Given the description of an element on the screen output the (x, y) to click on. 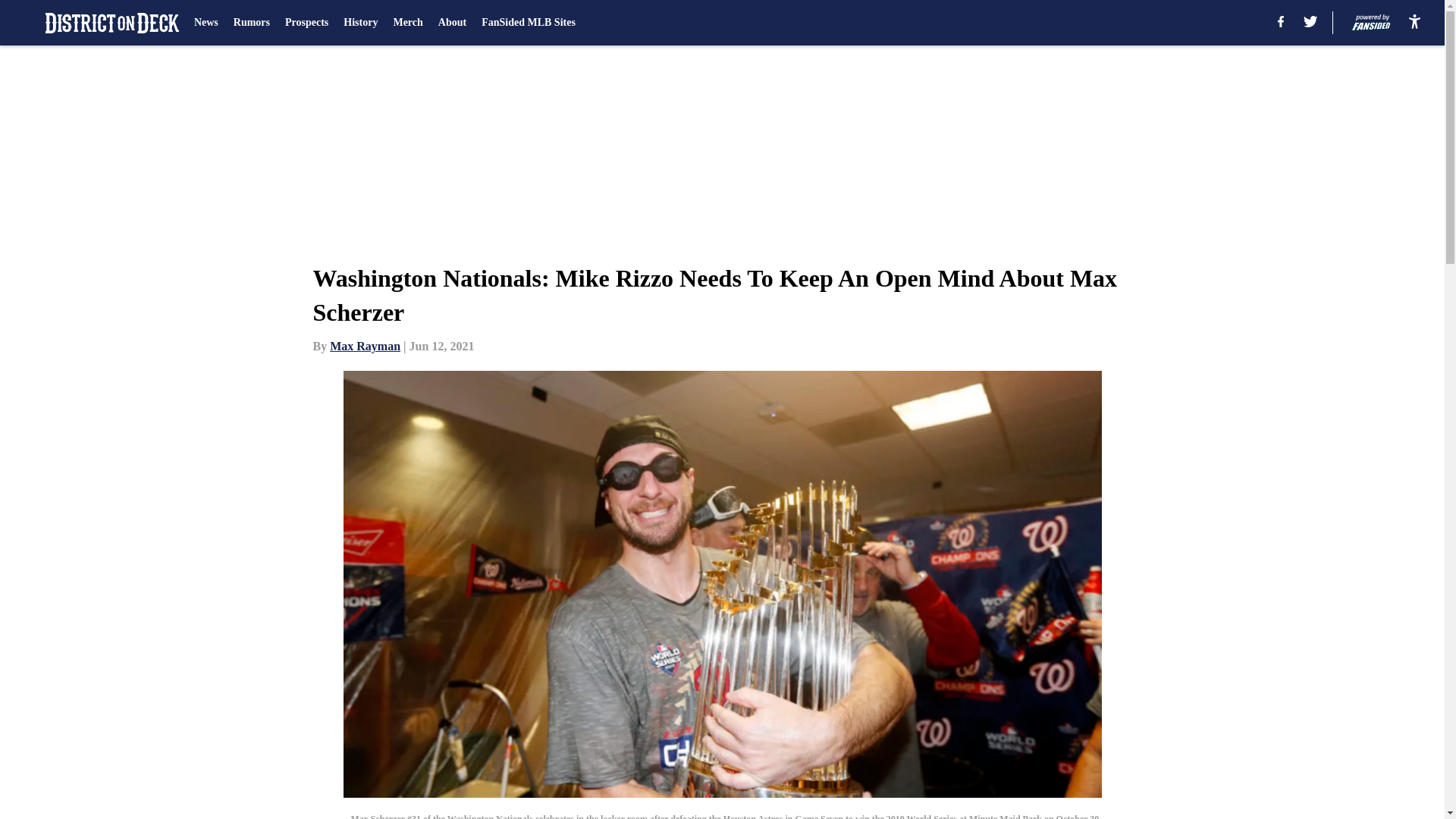
Prospects (307, 22)
News (205, 22)
Merch (407, 22)
Max Rayman (365, 345)
About (451, 22)
Rumors (250, 22)
FanSided MLB Sites (528, 22)
History (360, 22)
